Given the description of an element on the screen output the (x, y) to click on. 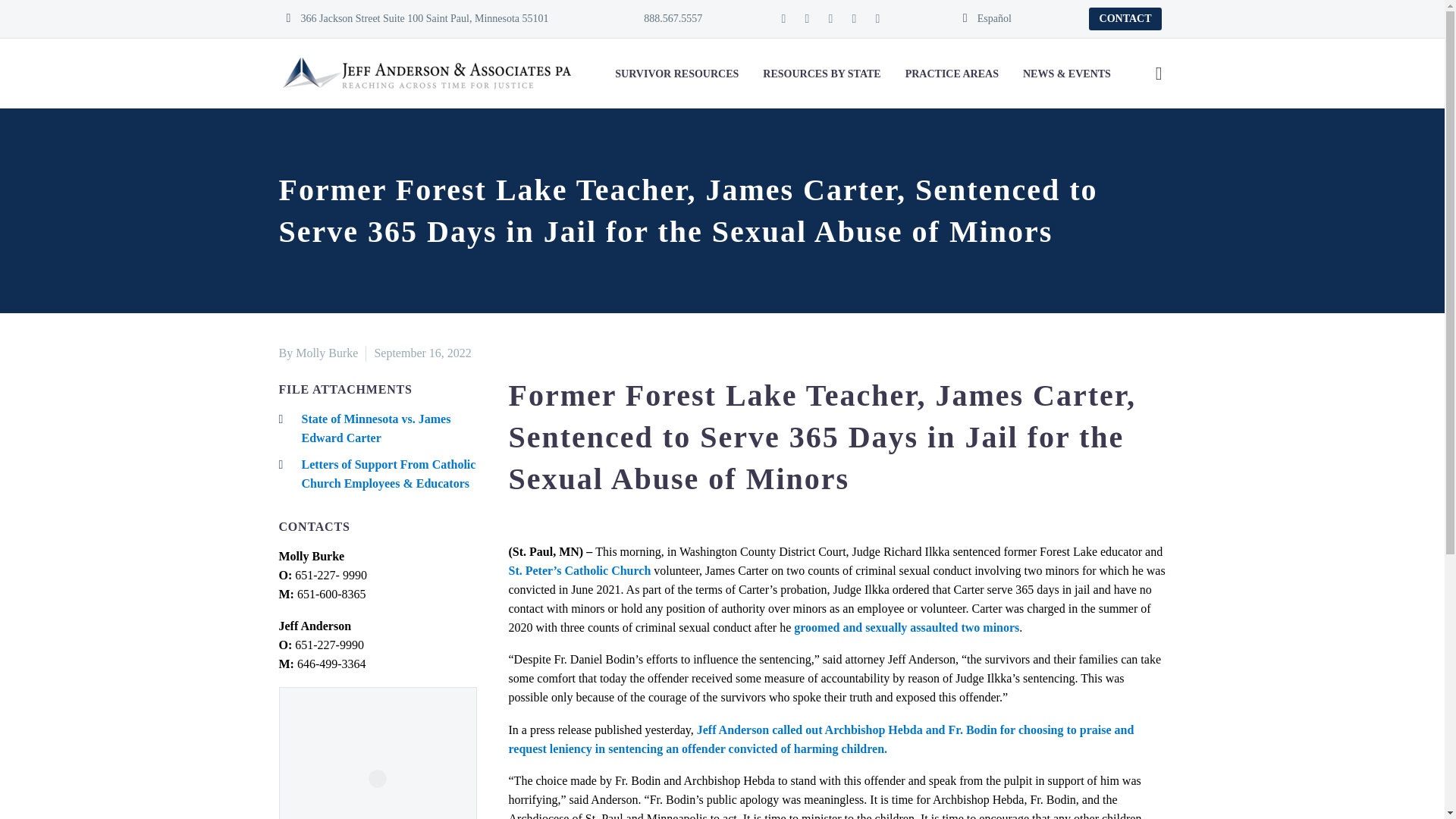
Twitter (829, 19)
Facebook (783, 19)
Instagram (853, 19)
CONTACT (1125, 18)
888.567.5557 (663, 18)
Instagram (876, 19)
